Given the description of an element on the screen output the (x, y) to click on. 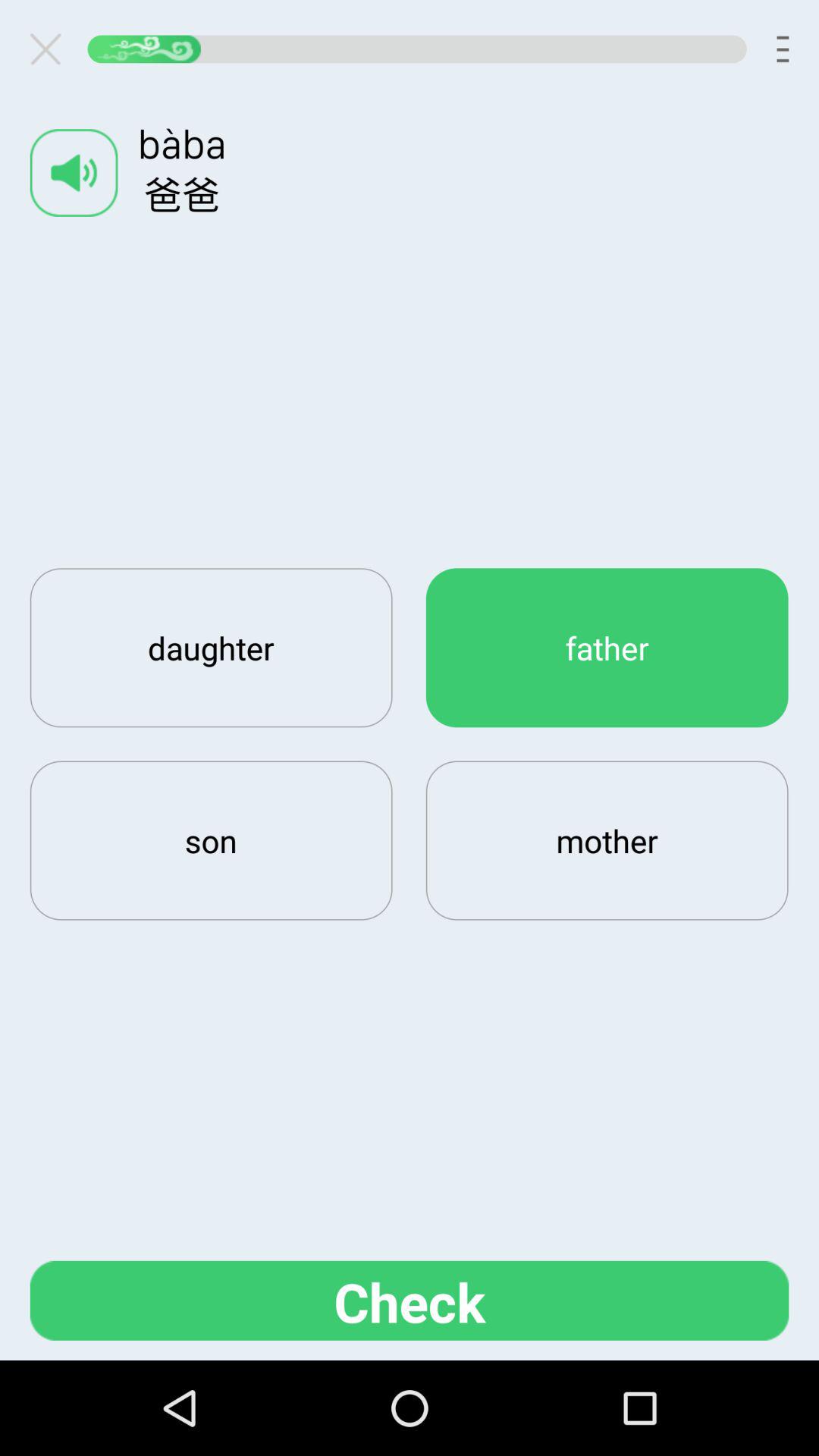
cancel (51, 49)
